Given the description of an element on the screen output the (x, y) to click on. 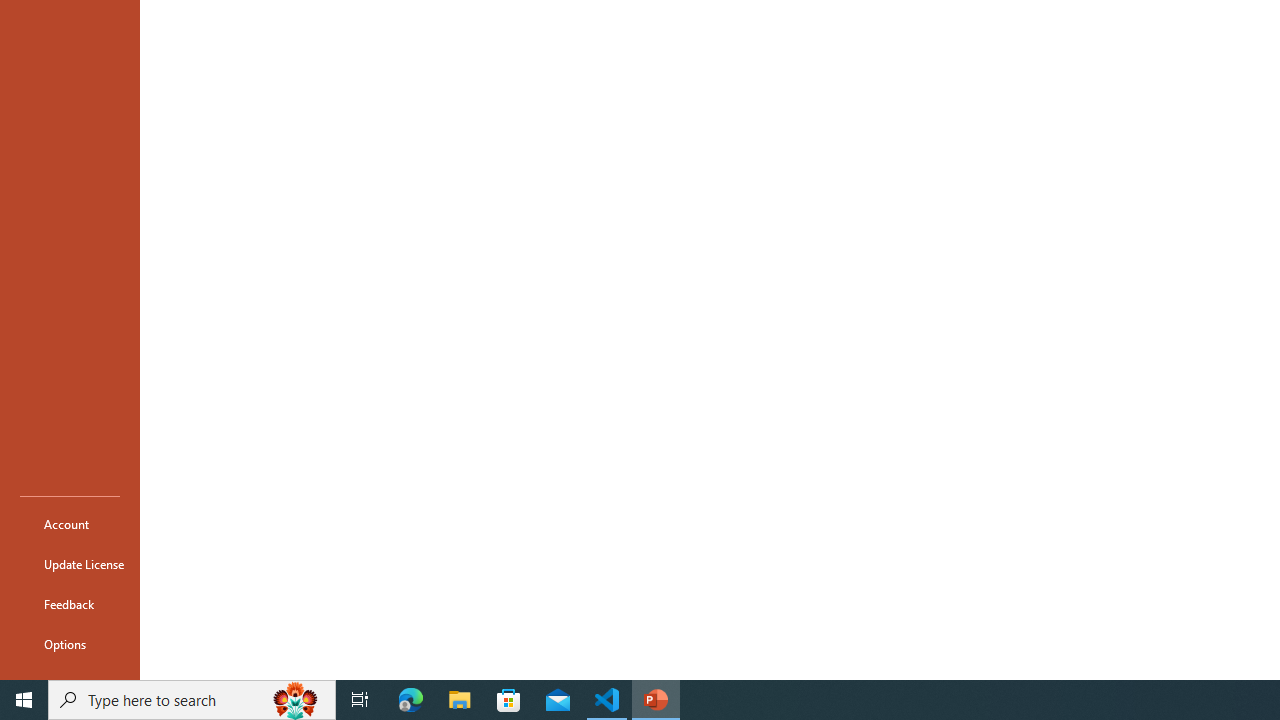
Options (69, 643)
Update License (69, 563)
Account (69, 523)
Feedback (69, 603)
